Given the description of an element on the screen output the (x, y) to click on. 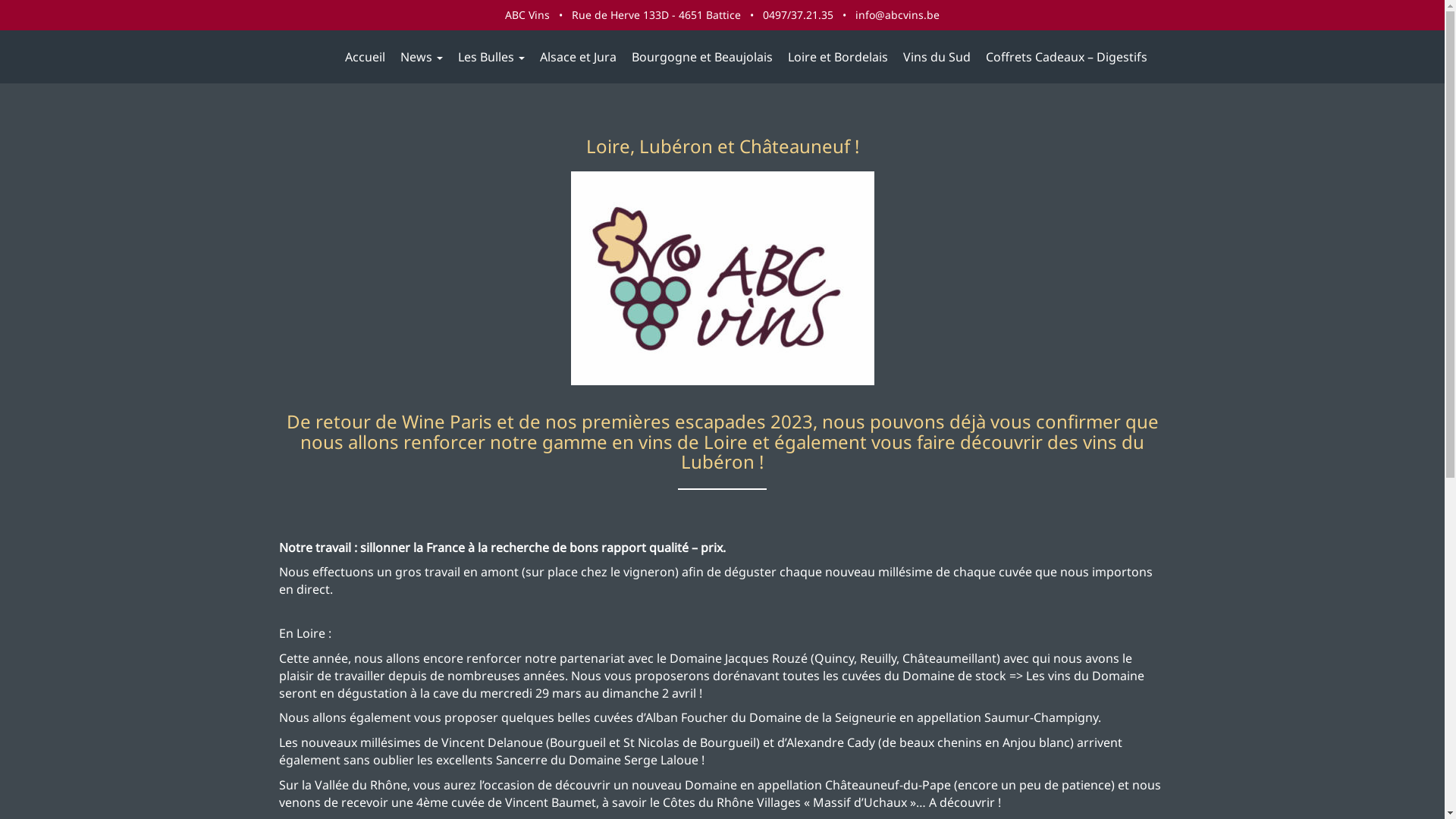
Alsace et Jura Element type: text (578, 56)
Vins du Sud Element type: text (935, 56)
Loire et Bordelais Element type: text (836, 56)
Les Bulles Element type: text (491, 56)
News Element type: text (421, 56)
Bourgogne et Beaujolais Element type: text (701, 56)
Accueil Element type: text (364, 56)
